Given the description of an element on the screen output the (x, y) to click on. 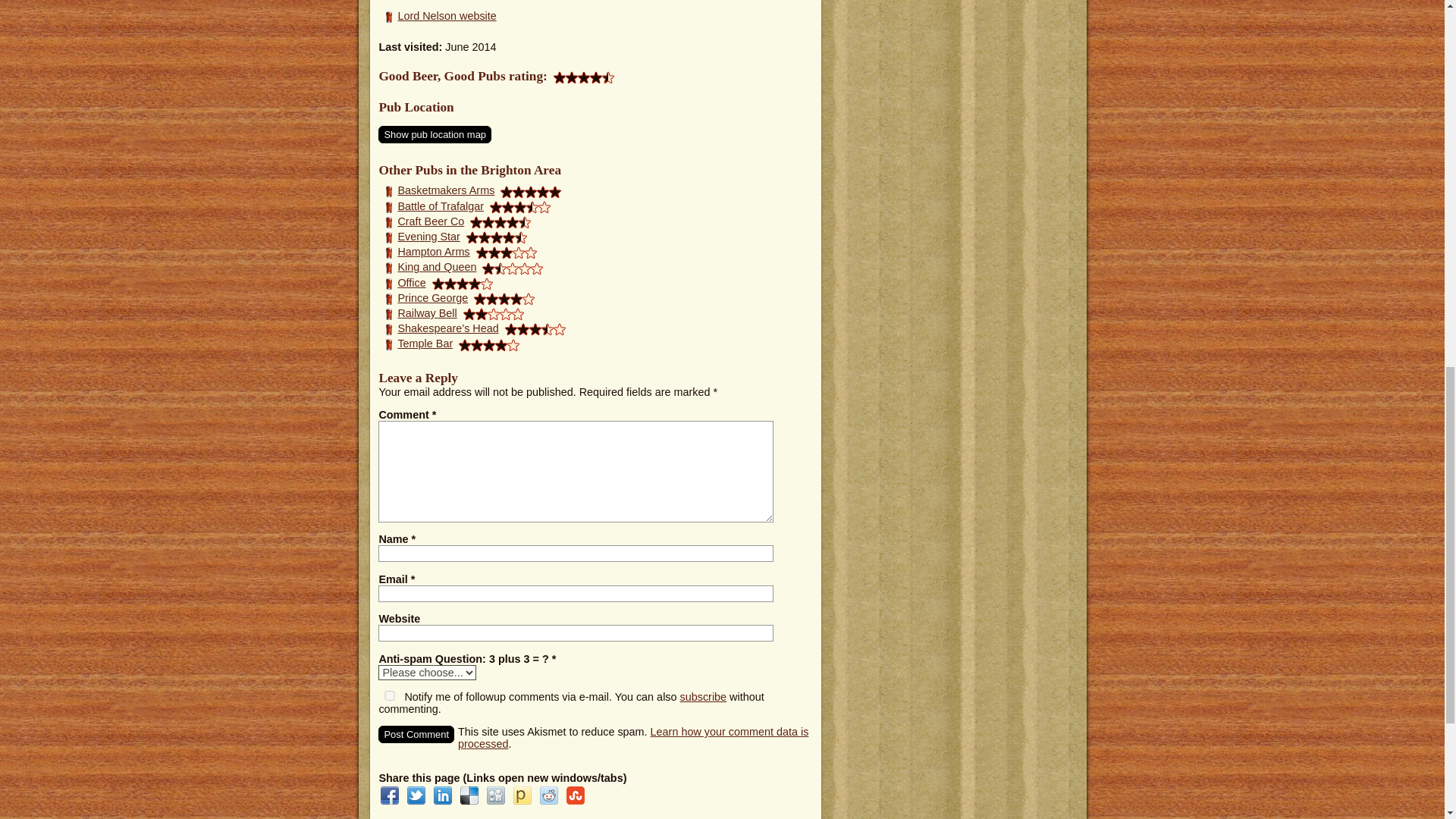
Battle of Trafalgar (440, 205)
Lord Nelson website (446, 15)
Evening Star (428, 236)
Hampton Arms (432, 251)
Link to Craft Beer Co (430, 221)
Railway Bell (427, 313)
Temple Bar (424, 343)
Prince George (432, 297)
Learn how your comment data is processed (633, 737)
yes (389, 696)
